Given the description of an element on the screen output the (x, y) to click on. 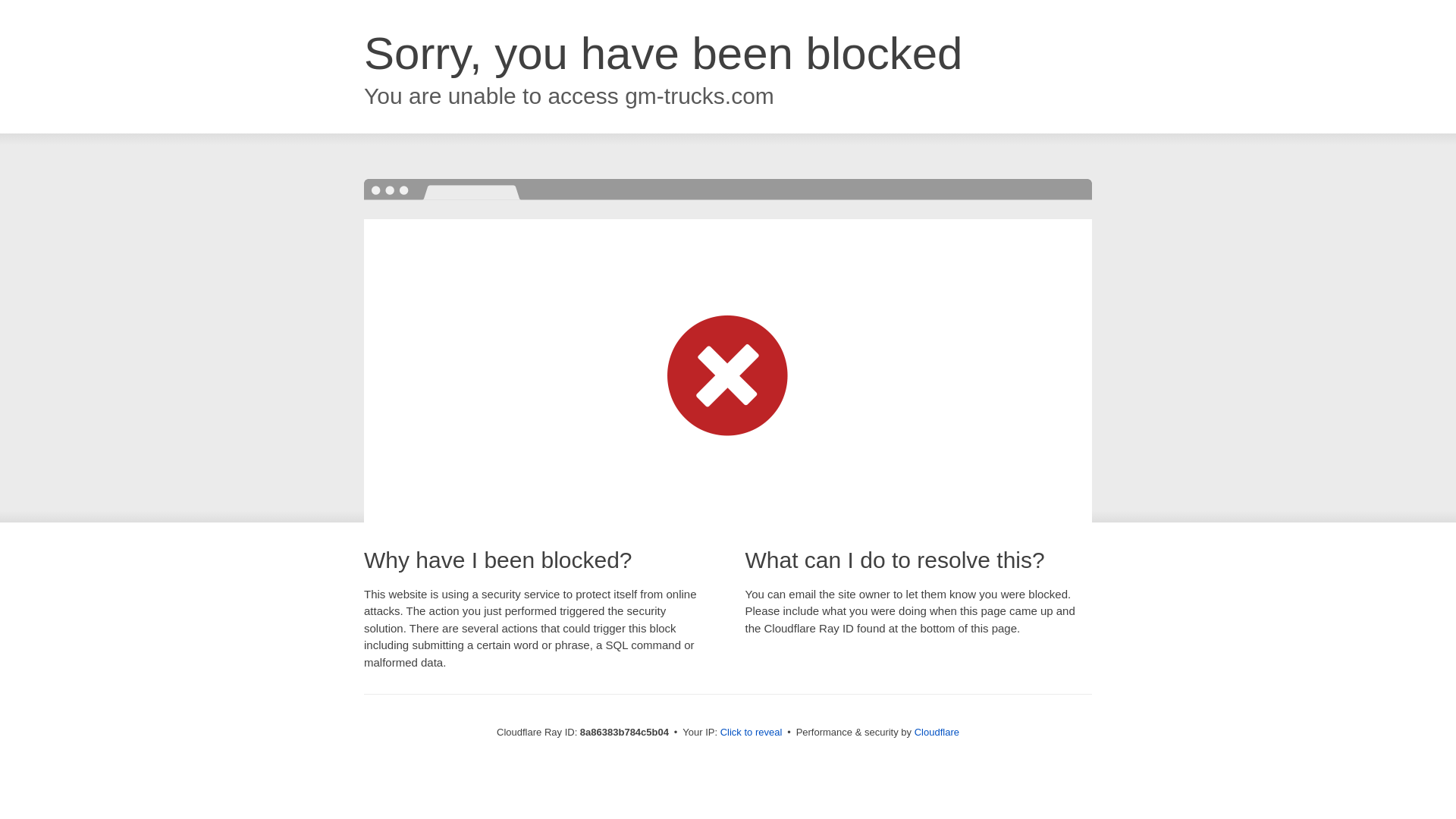
Click to reveal (751, 732)
Cloudflare (936, 731)
